Given the description of an element on the screen output the (x, y) to click on. 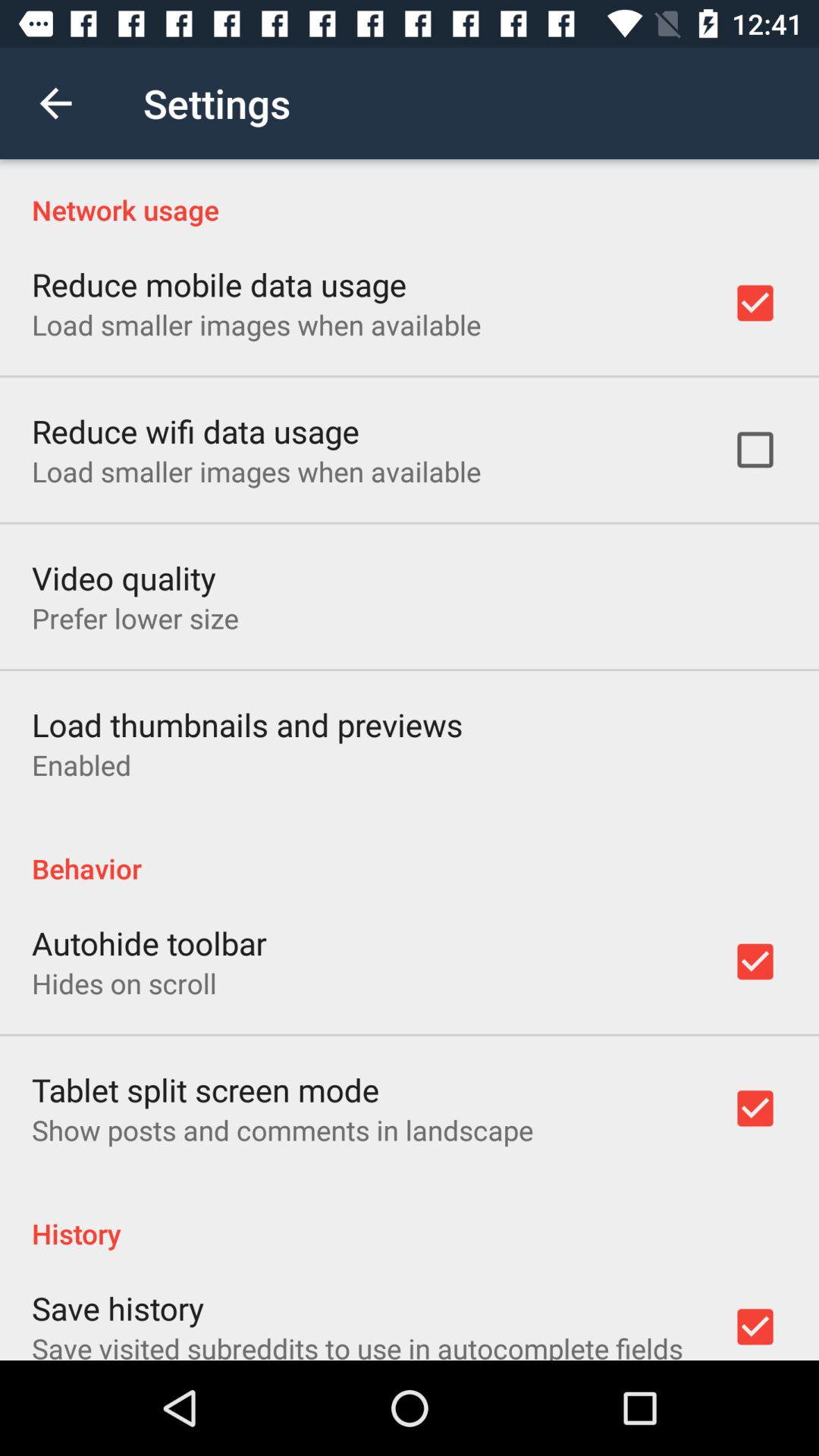
flip to prefer lower size item (134, 618)
